Given the description of an element on the screen output the (x, y) to click on. 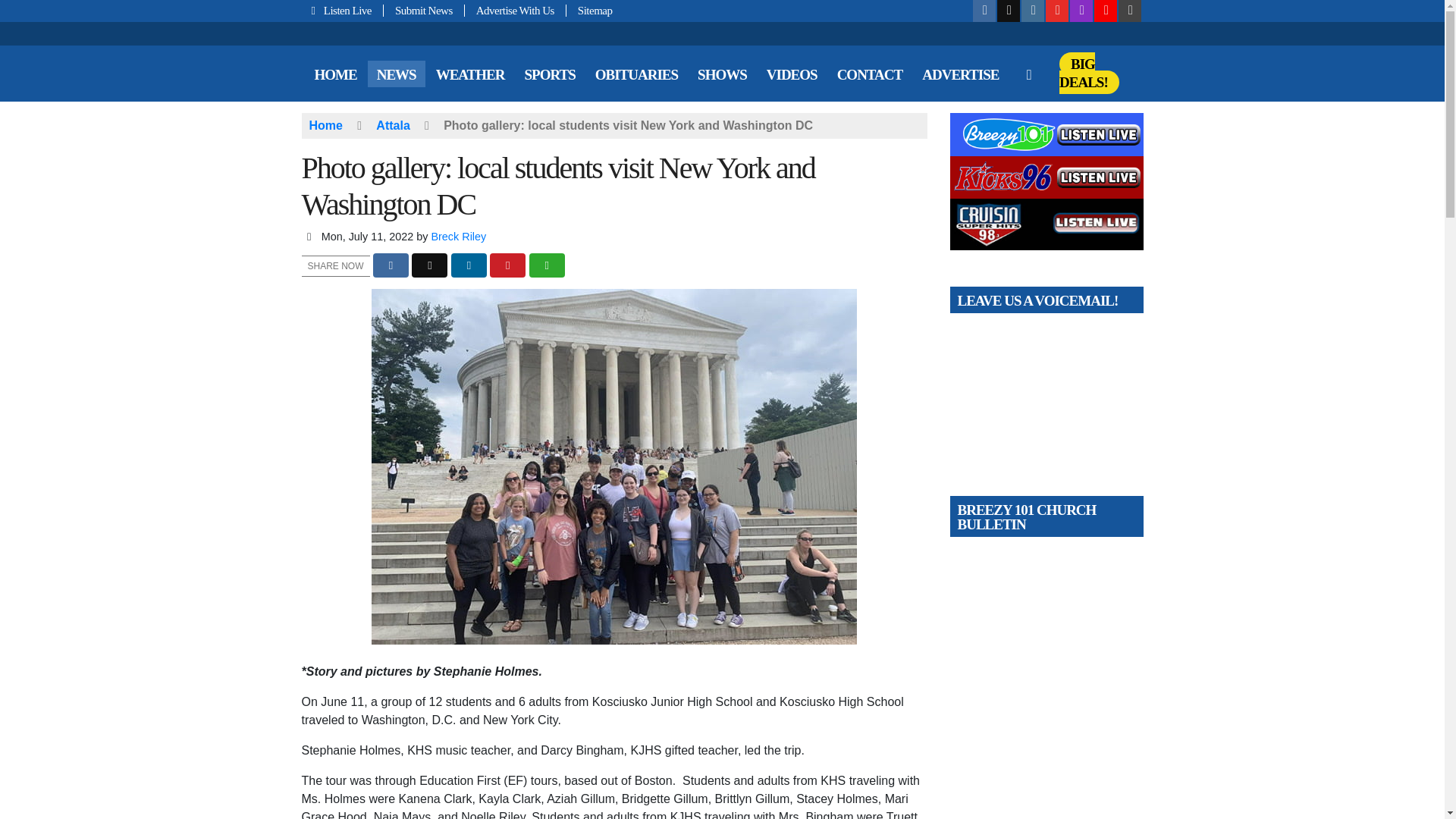
Submit News (424, 10)
Advertise With Us (515, 10)
Sitemap (589, 10)
Follow us on Instagram (1032, 11)
Follow us on Youtube (1056, 11)
Listen Live (342, 10)
Follow our Podcast (1081, 11)
Follow us on Soundcloud (1105, 11)
Follow us on Facebook (983, 11)
Follow us on X (1008, 11)
